Given the description of an element on the screen output the (x, y) to click on. 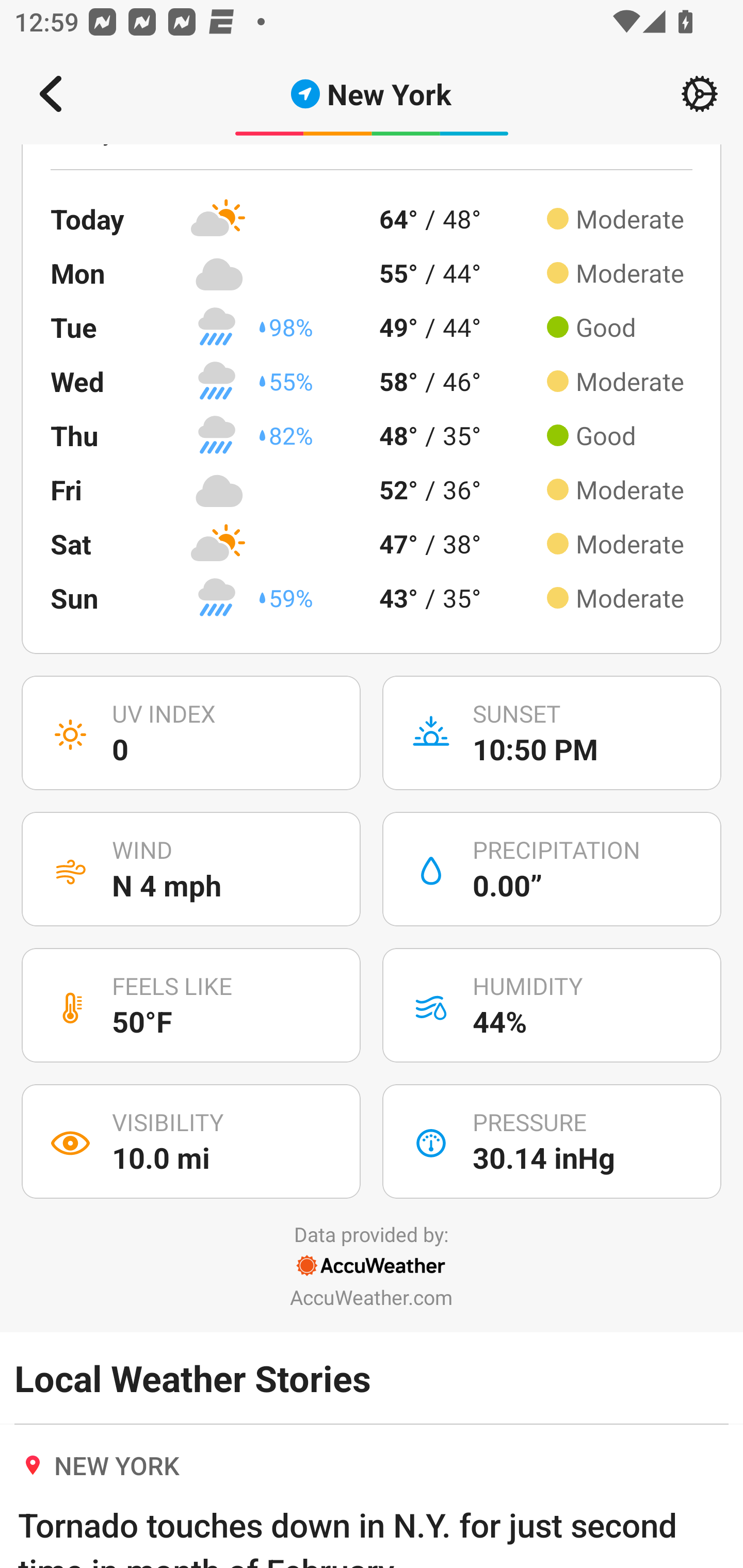
Navigate up (50, 93)
Setting (699, 93)
